Given the description of an element on the screen output the (x, y) to click on. 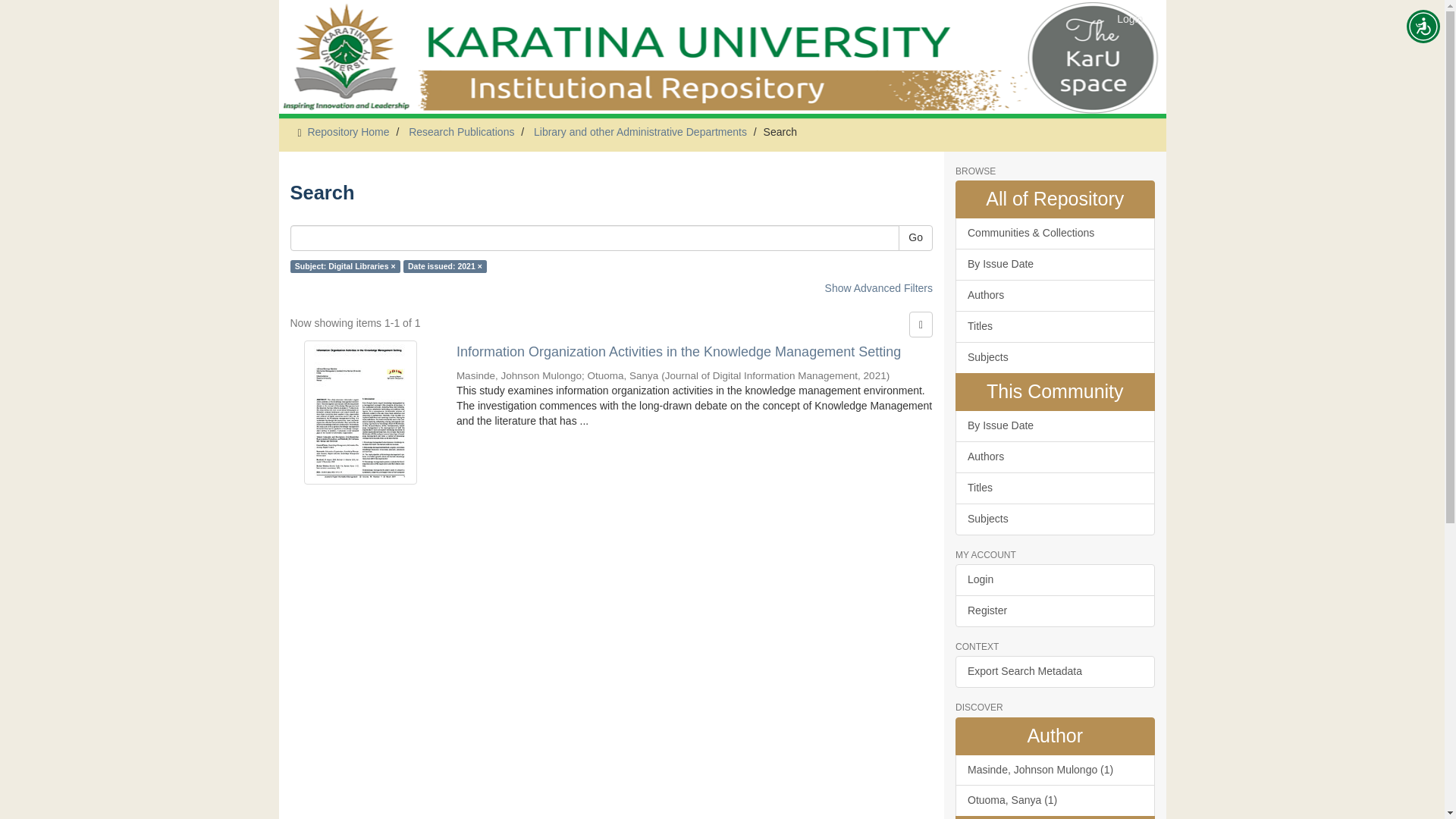
Repository Home (347, 132)
Library and other Administrative Departments (640, 132)
Go (915, 237)
Show Advanced Filters (879, 287)
Accessibility Menu (1422, 26)
Research Publications (461, 132)
Login (1129, 18)
